Given the description of an element on the screen output the (x, y) to click on. 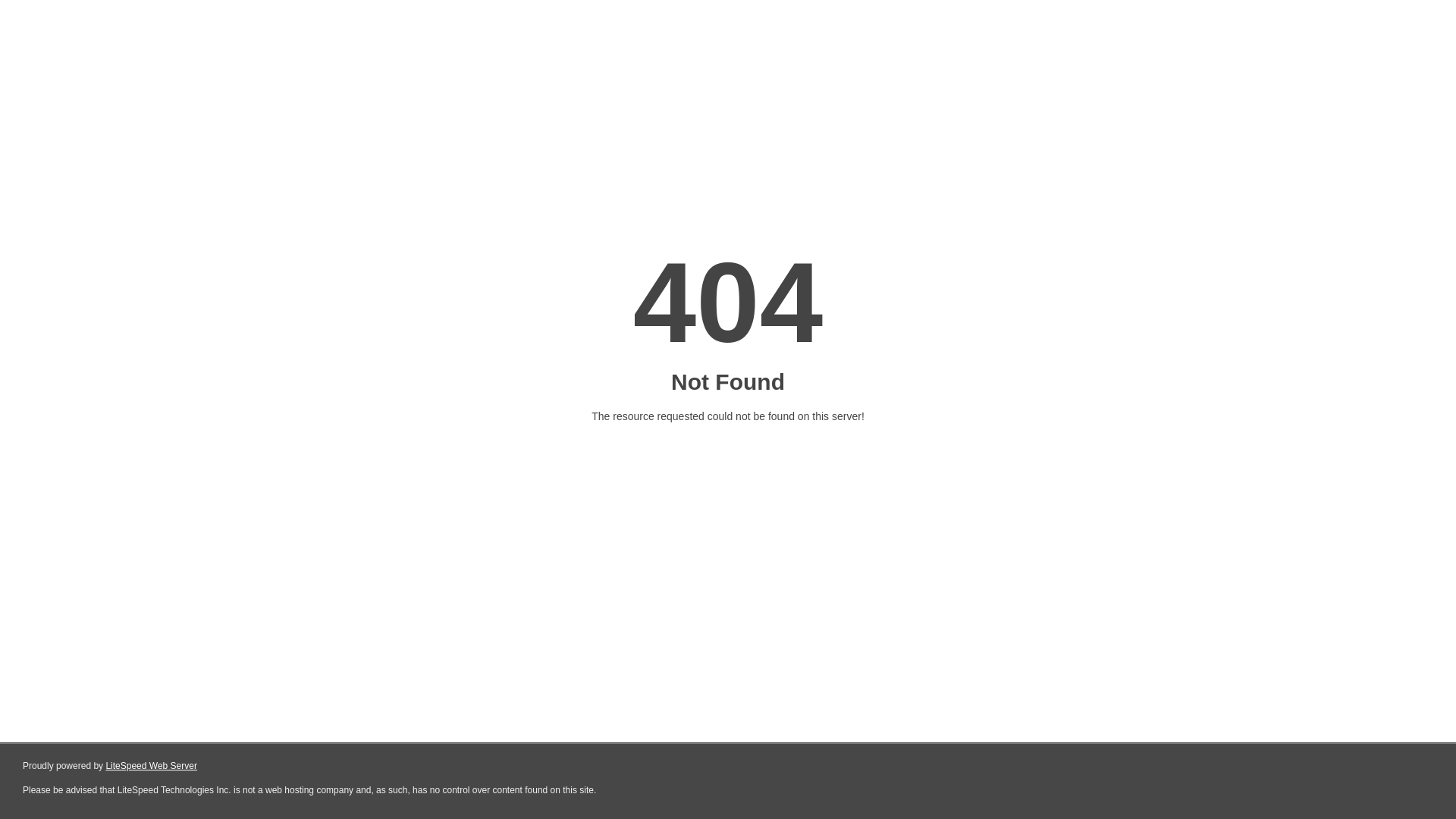
LiteSpeed Web Server Element type: text (151, 765)
